Given the description of an element on the screen output the (x, y) to click on. 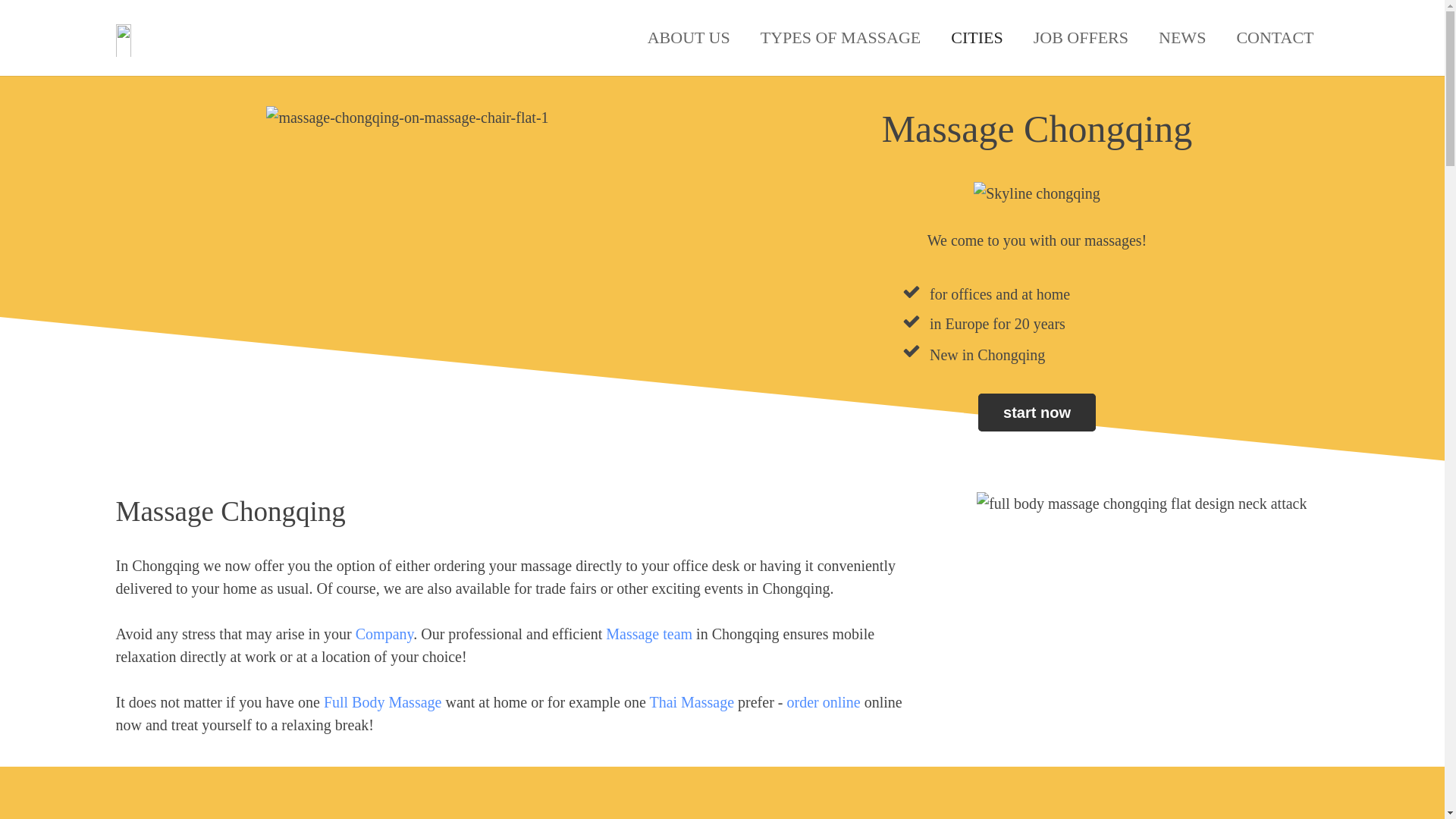
CITIES (976, 38)
ABOUT US (688, 38)
TYPES OF MASSAGE (840, 38)
